Given the description of an element on the screen output the (x, y) to click on. 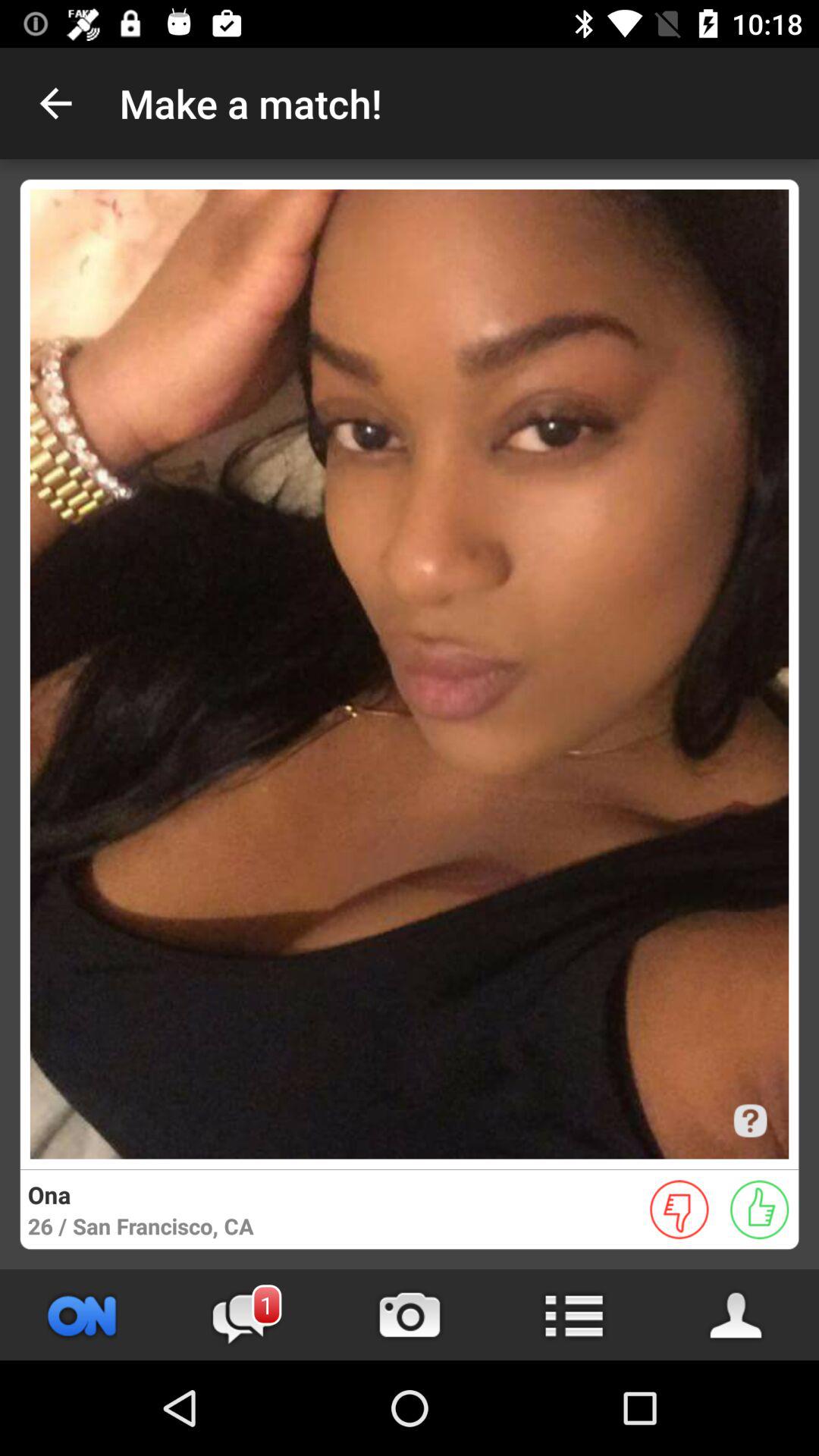
click on the icon next to on (245, 1315)
click on dislike icon left to like icon (679, 1209)
click on dislike icon left to like icon (679, 1209)
click on the question mark icon at the right bottom of the page (749, 1120)
click on the question mark icon at the right bottom of the page (749, 1120)
